Given the description of an element on the screen output the (x, y) to click on. 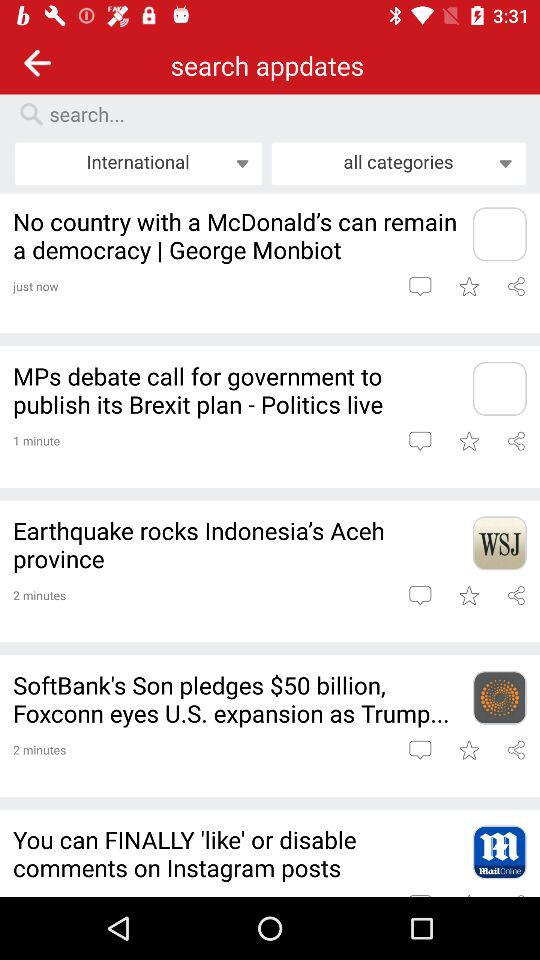
favorite the article (468, 286)
